Given the description of an element on the screen output the (x, y) to click on. 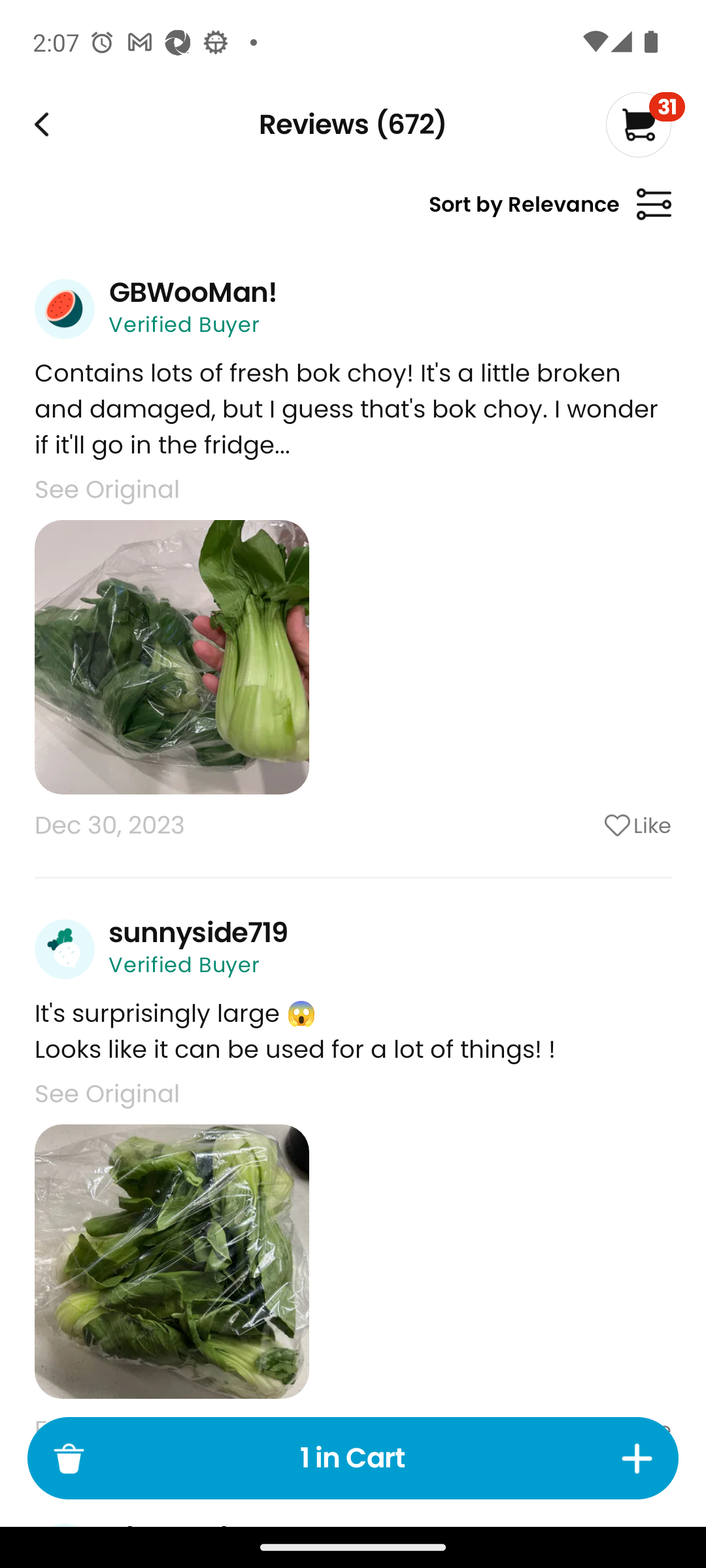
31 (644, 124)
Sort by Relevance (549, 212)
GBWooMan! (192, 292)
Verified Buyer (183, 324)
See Original (107, 488)
Like (585, 825)
sunnyside719 (198, 931)
Verified Buyer (183, 965)
See Original (107, 1093)
1 in Cart (352, 1458)
